Given the description of an element on the screen output the (x, y) to click on. 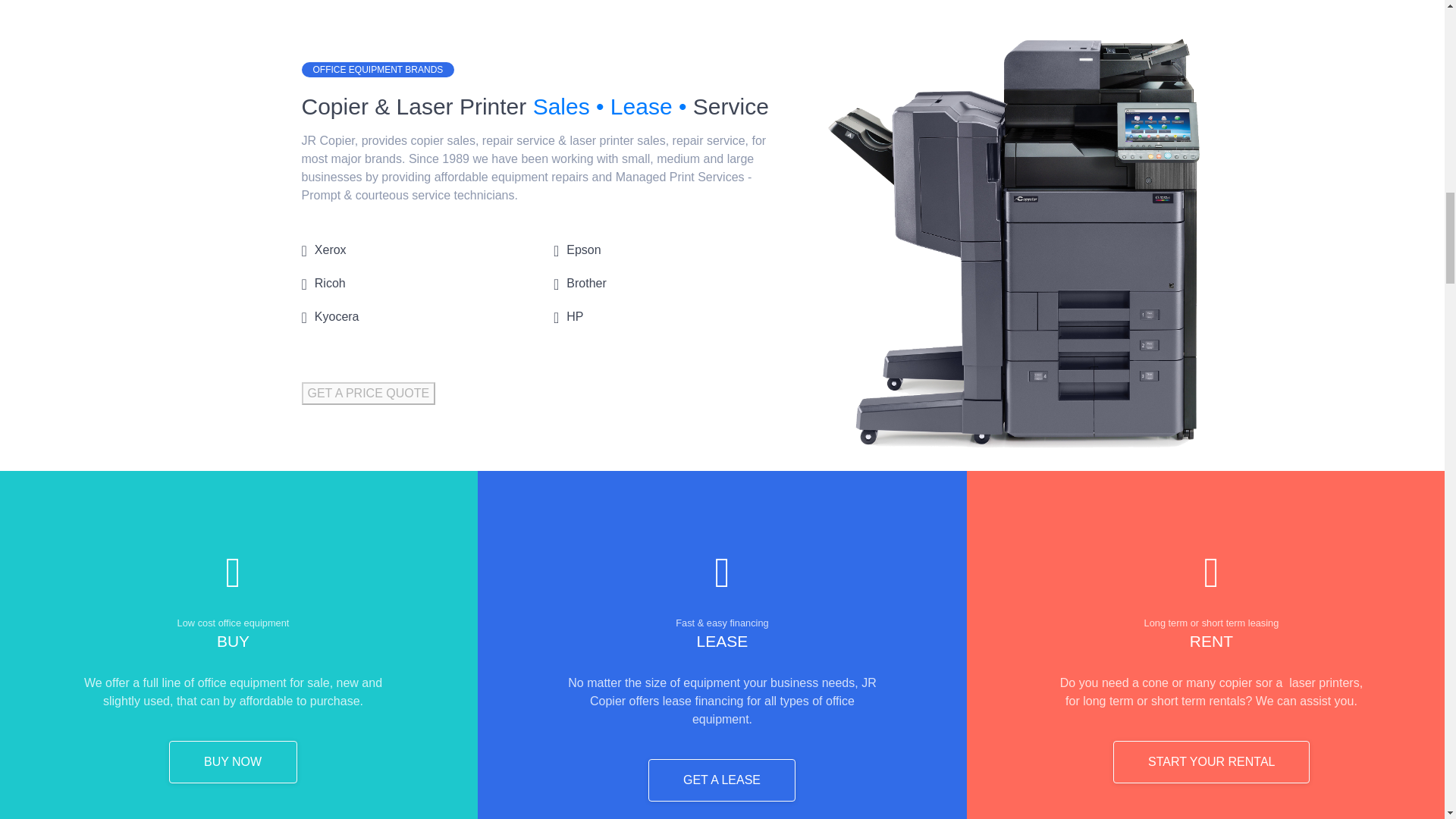
BUY NOW (232, 761)
START YOUR RENTAL (1210, 761)
GET A LEASE (720, 780)
GET A PRICE QUOTE (368, 393)
